Given the description of an element on the screen output the (x, y) to click on. 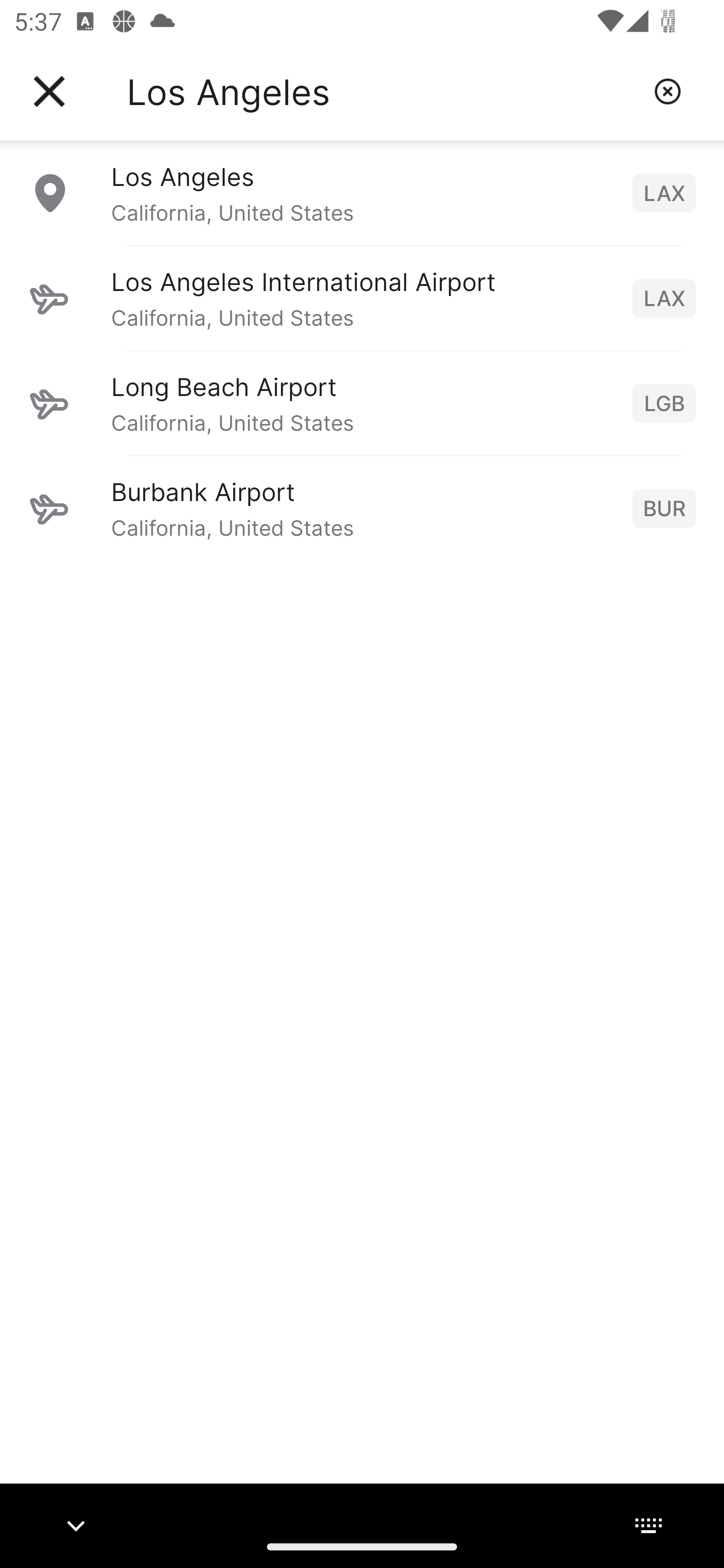
Los Angeles (382, 91)
Los Angeles California, United States LAX (362, 192)
Long Beach Airport California, United States LGB (362, 402)
Burbank Airport California, United States BUR (362, 507)
